Given the description of an element on the screen output the (x, y) to click on. 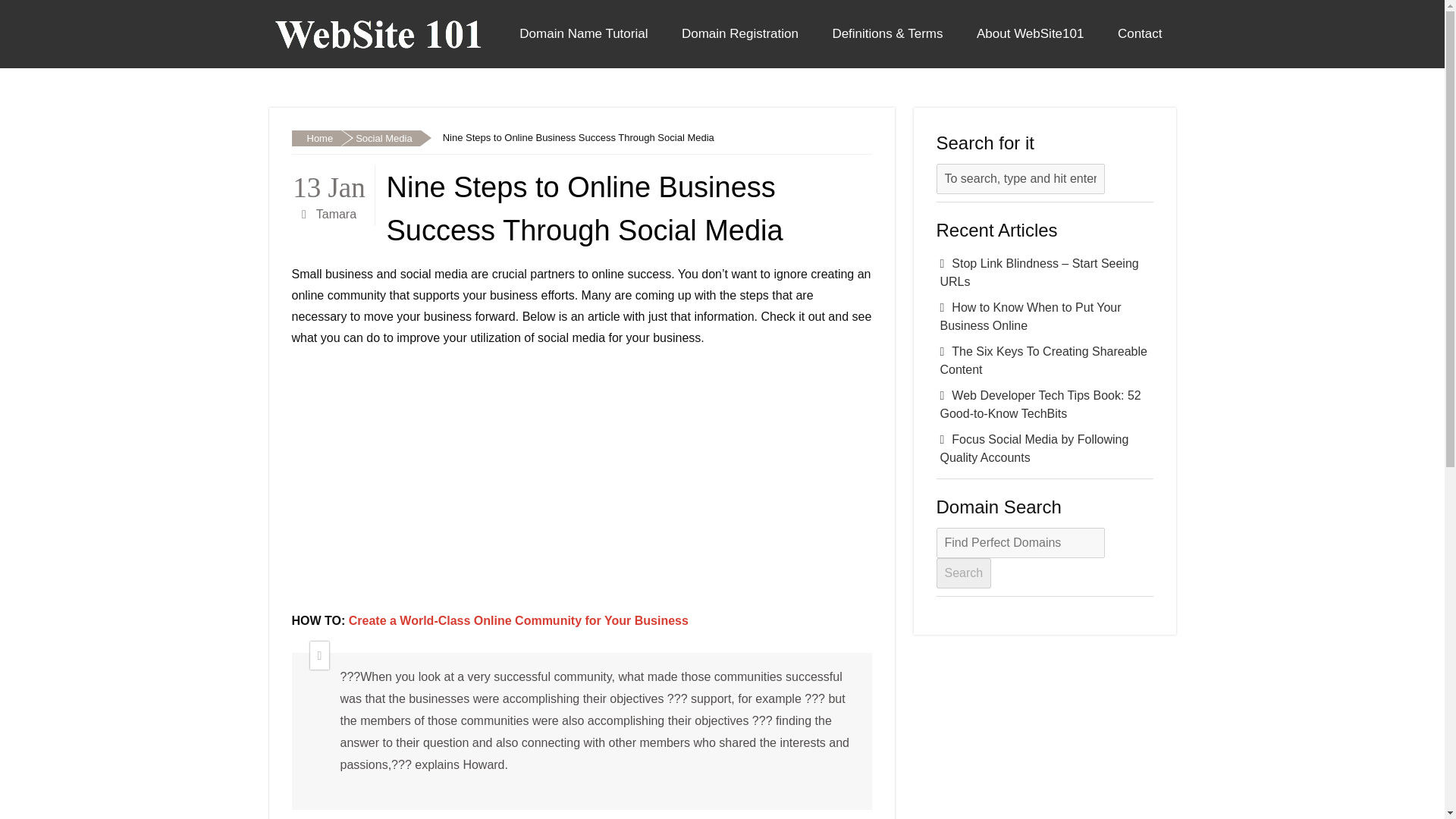
Search (963, 572)
Domain Name Tutorial (582, 33)
Create a World-Class Online Community for Your Business (518, 620)
Contact (1139, 33)
2011-01-13 (328, 184)
Search (963, 572)
Domain Registration (739, 33)
Search (963, 572)
Focus Social Media by Following Quality Accounts (1044, 448)
Social Media (379, 138)
